Given the description of an element on the screen output the (x, y) to click on. 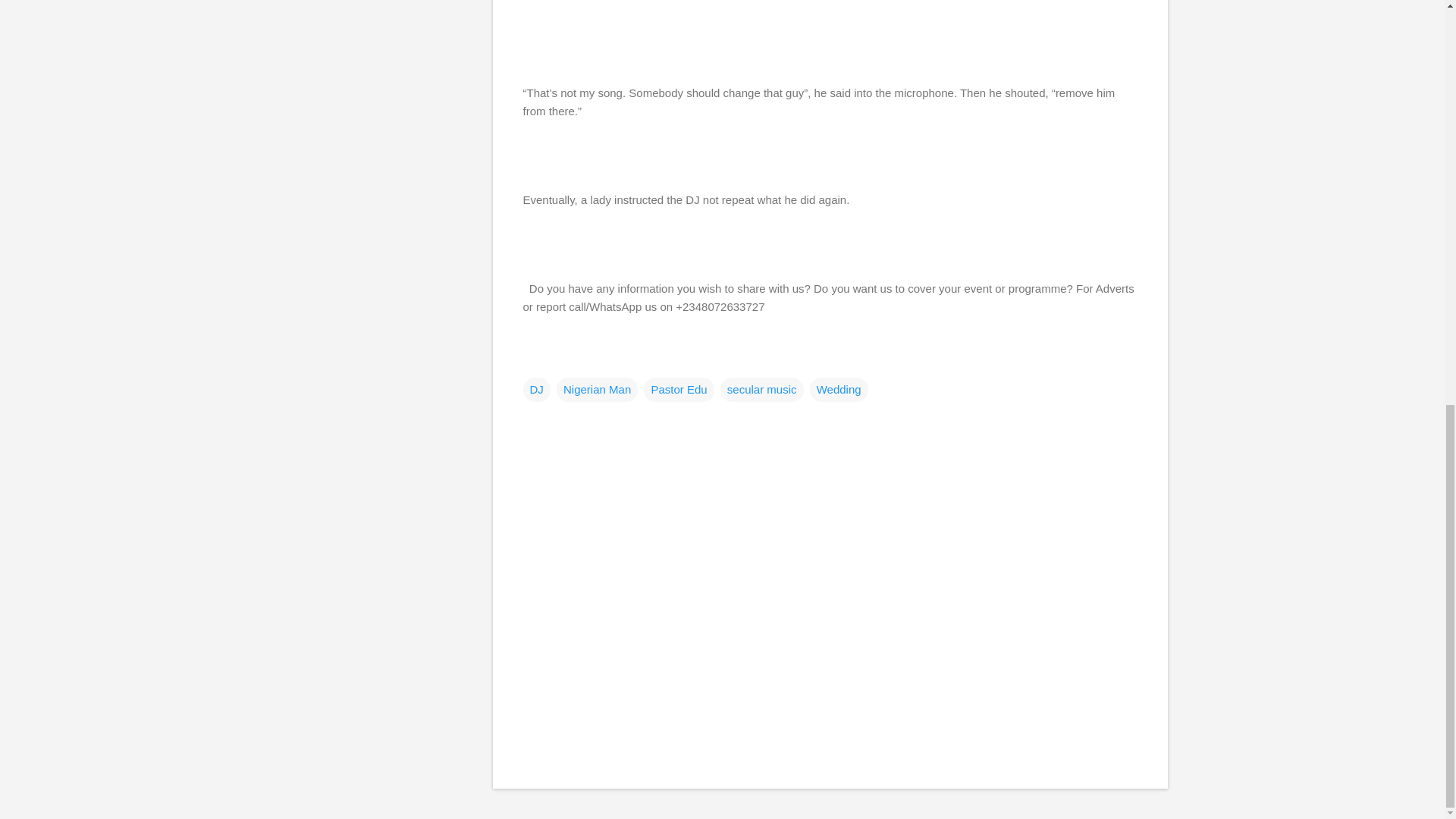
secular music (761, 388)
Pastor Edu (678, 388)
Wedding (838, 388)
Nigerian Man (596, 388)
DJ (536, 388)
